Given the description of an element on the screen output the (x, y) to click on. 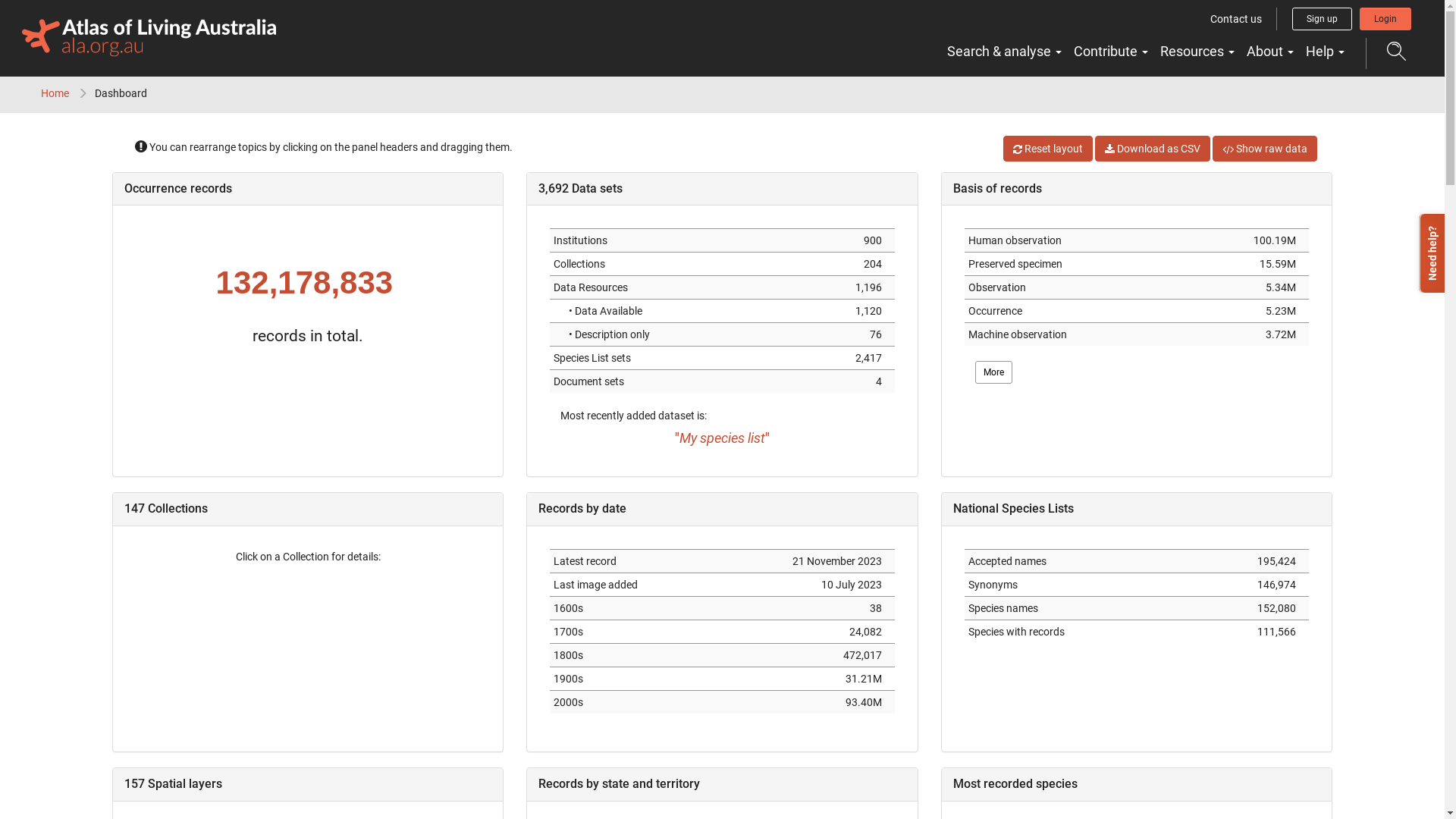
About Element type: text (1269, 51)
Download as CSV Element type: text (1152, 148)
3,692 Element type: text (553, 188)
"My species list" Element type: text (721, 437)
Reset layout Element type: text (1047, 148)
More Element type: text (993, 371)
Show raw data Element type: text (1264, 148)
147 Element type: text (134, 508)
Search & analyse Element type: text (1004, 51)
157 Element type: text (135, 783)
Resources Element type: text (1197, 51)
Contribute Element type: text (1110, 51)
Sign up Element type: text (1322, 18)
Contact us Element type: text (1235, 18)
Login Element type: text (1385, 18)
132,178,833 Element type: text (304, 282)
Help Element type: text (1324, 51)
Home Element type: text (54, 93)
